Given the description of an element on the screen output the (x, y) to click on. 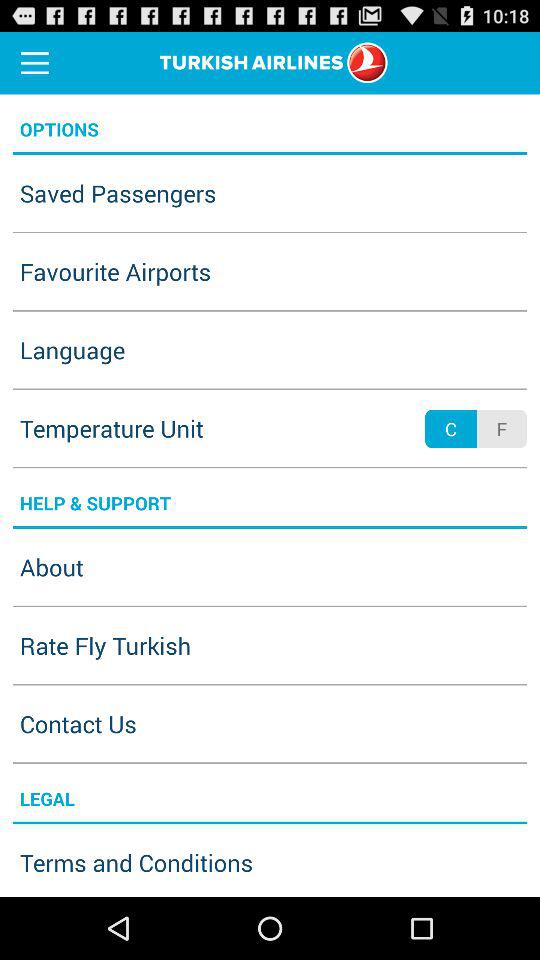
menu (35, 62)
